Given the description of an element on the screen output the (x, y) to click on. 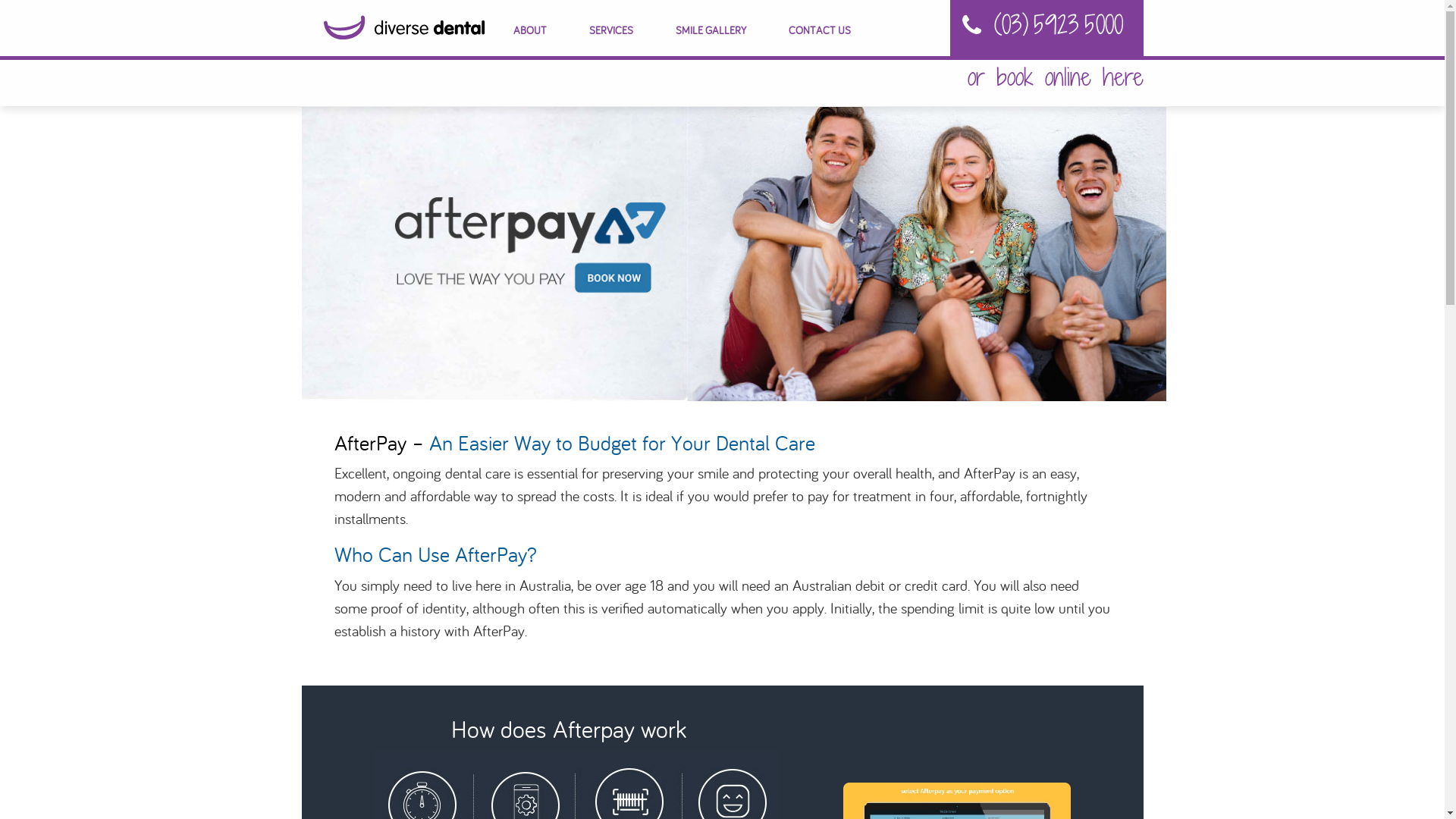
ABOUT Element type: text (529, 30)
(03) 5923 5000 Element type: text (1057, 24)
CONTACT US Element type: text (819, 30)
or book online here Element type: text (1055, 76)
SMILE GALLERY Element type: text (709, 30)
SERVICES Element type: text (610, 30)
